Given the description of an element on the screen output the (x, y) to click on. 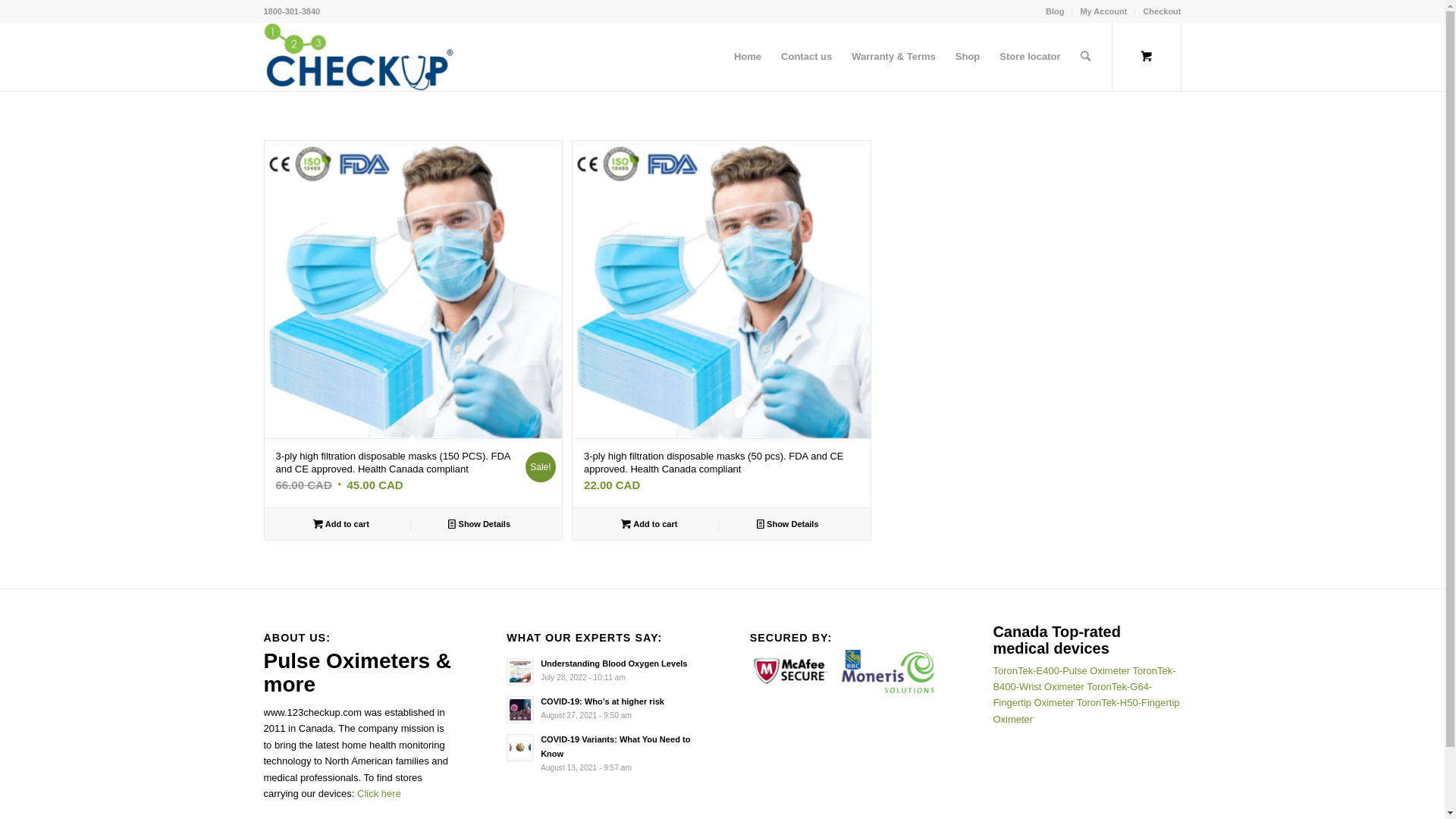
Add to cart Element type: text (340, 523)
ToronTek-H50-Fingertip Oximeter Element type: text (1085, 710)
Show Details Element type: text (787, 523)
Shop Element type: text (967, 56)
Checkout Element type: text (1161, 11)
Understanding Blood Oxygen Levels
July 28, 2022 - 10:11 am Element type: text (600, 670)
ToronTek-E400-Pulse Oximeter Element type: text (1060, 670)
Warranty & Terms Element type: text (893, 56)
My Account Element type: text (1102, 11)
Show Details Element type: text (479, 523)
ToronTek-G64-Fingertip Oximeter Element type: text (1071, 694)
Secured by: Element type: hover (843, 671)
Store locator Element type: text (1029, 56)
Click here Element type: text (379, 793)
Home Element type: text (747, 56)
ToronTek-B400-Wrist Oximeter Element type: text (1083, 678)
Add to cart Element type: text (649, 523)
Canada Top-rated medical devices Element type: text (1056, 639)
Blog Element type: text (1054, 11)
Contact us Element type: text (806, 56)
